Given the description of an element on the screen output the (x, y) to click on. 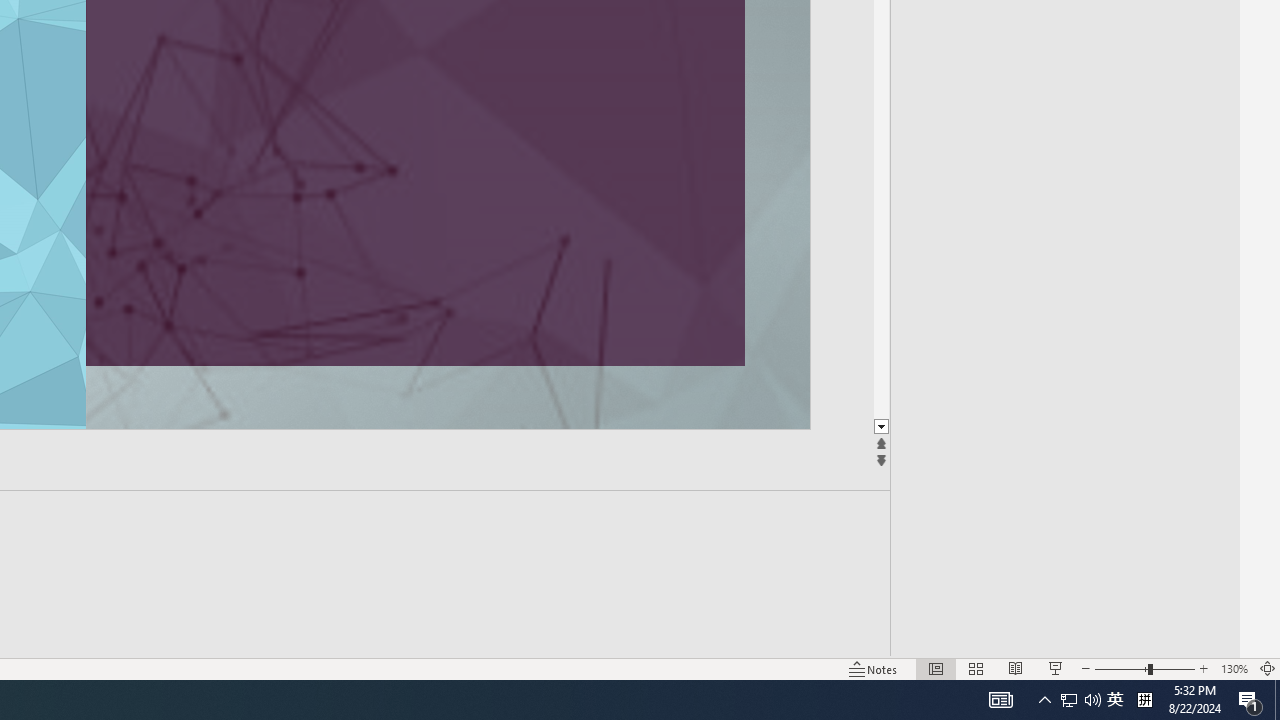
Zoom 130% (1234, 668)
